Given the description of an element on the screen output the (x, y) to click on. 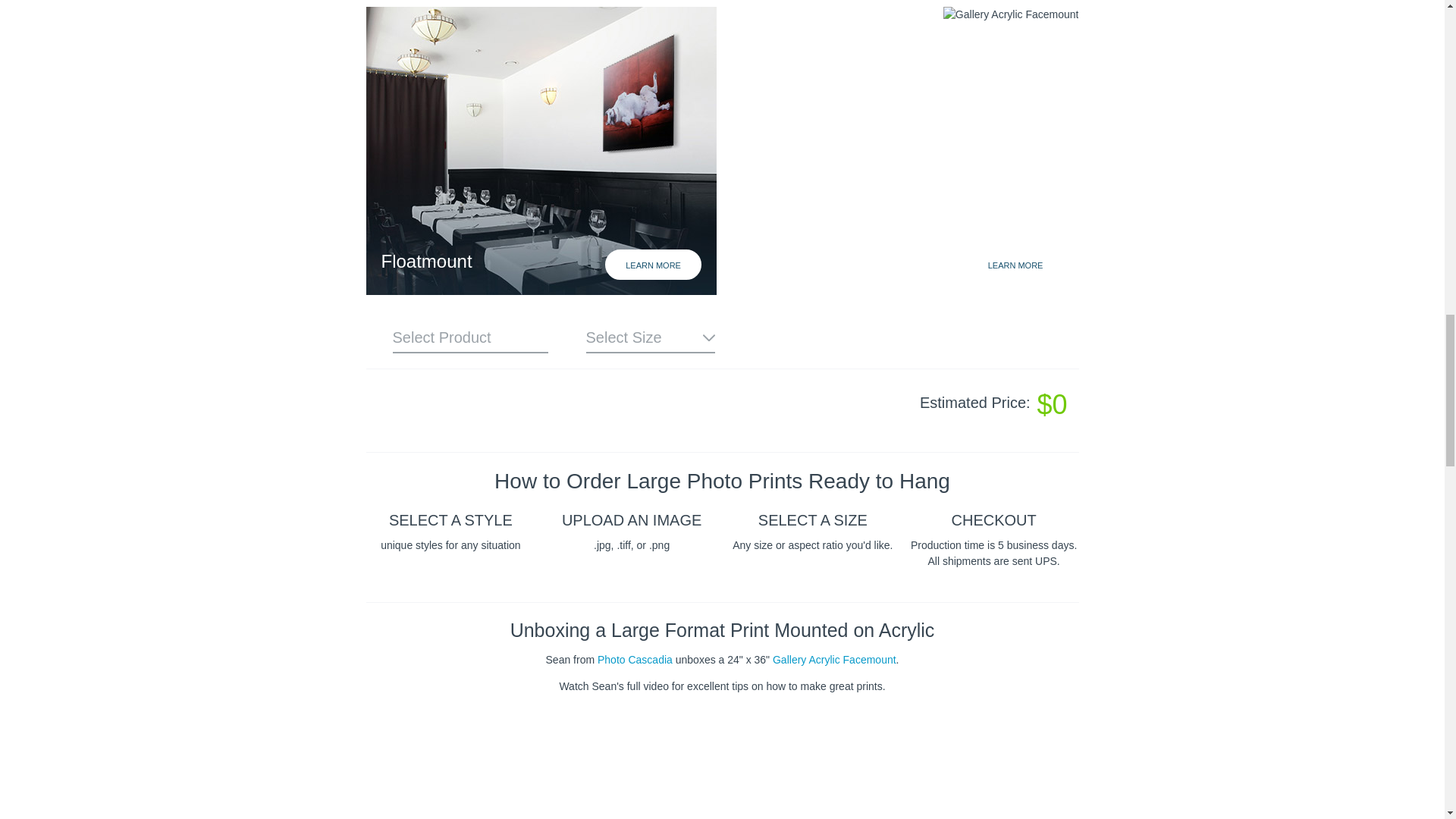
Gallery Acrylic Facemount (834, 659)
LEARN MORE (653, 264)
Select Size (649, 337)
Photo Cascadia (634, 659)
Select Product (470, 337)
LEARN MORE (1016, 264)
